Given the description of an element on the screen output the (x, y) to click on. 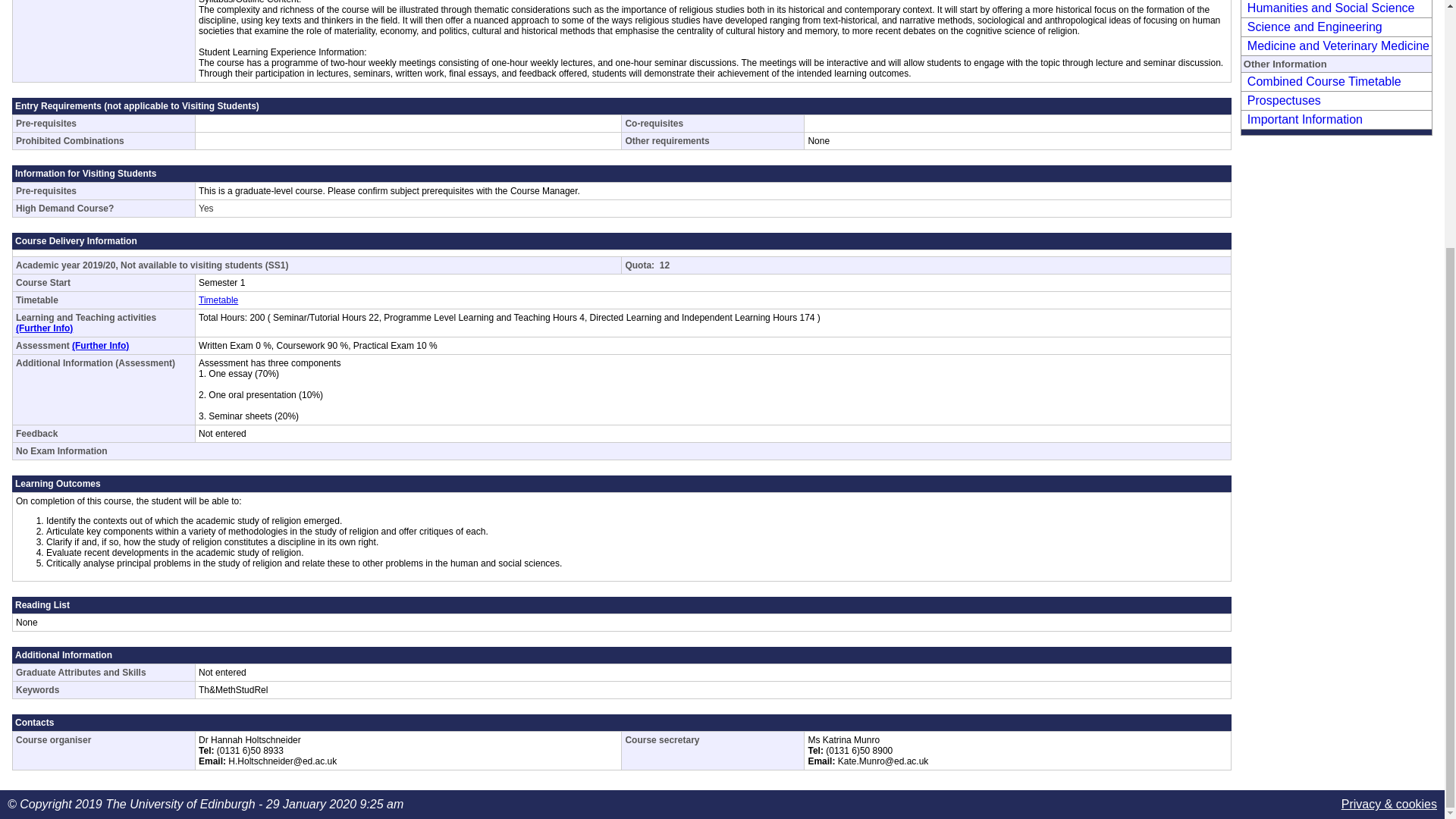
Timetable (218, 299)
Prospectuses (1281, 100)
Prospectuses (1281, 100)
Combined Course Timetable (1321, 81)
Medicine and Veterinary Medicine (1336, 45)
Science and Engineering (1312, 26)
Humanities and Social Science (1329, 7)
Important Information (1302, 119)
